Given the description of an element on the screen output the (x, y) to click on. 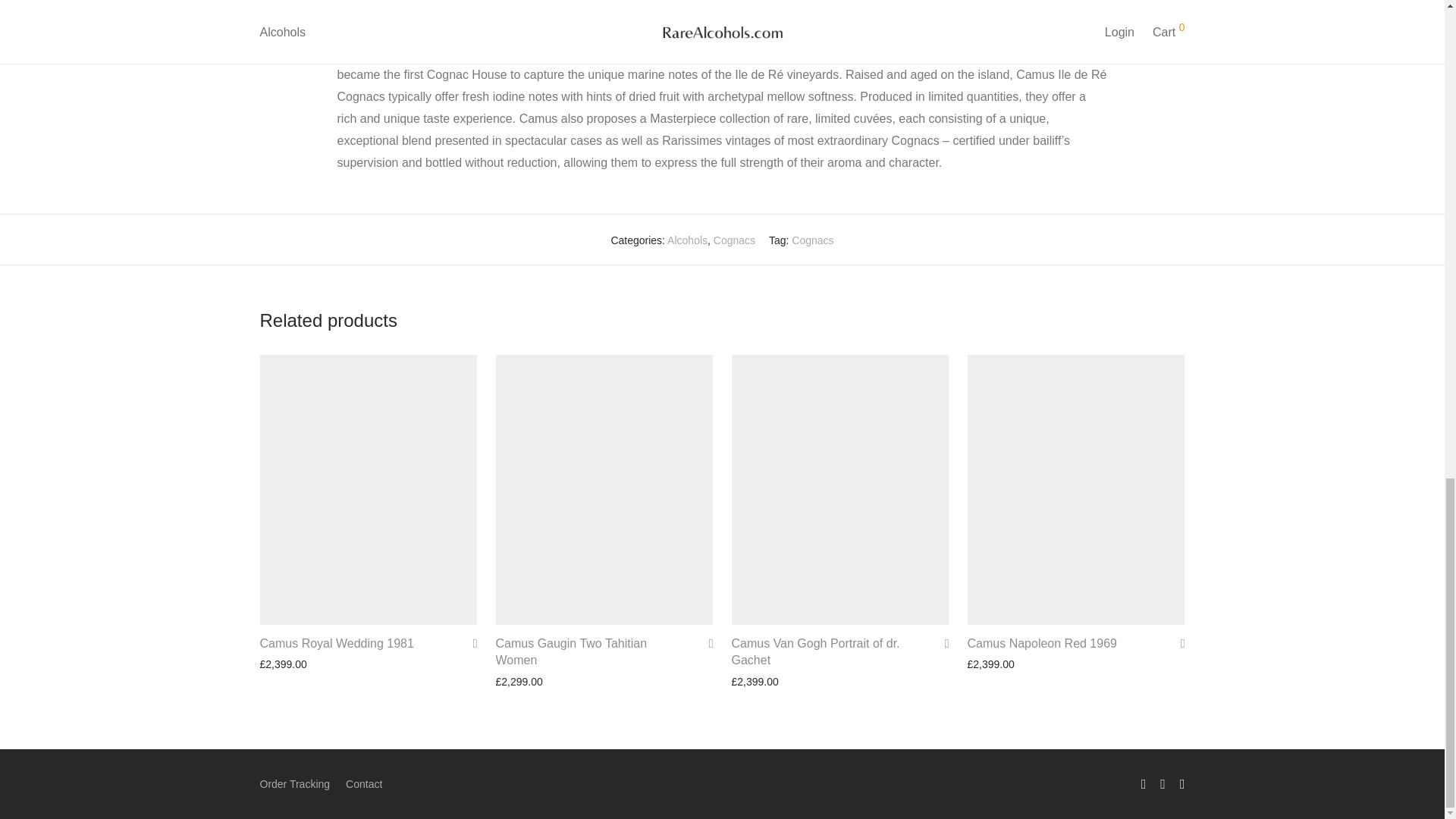
Camus Van Gogh Portrait of dr. Gachet (814, 651)
Alcohols (686, 240)
Camus Gaugin Two Tahitian Women (571, 651)
Add to Wishlist (705, 643)
Camus Royal Wedding 1981 (336, 643)
Add to Wishlist (470, 643)
Cognacs (812, 240)
Add to Wishlist (941, 643)
Cognacs (734, 240)
Add to Wishlist (1177, 643)
